Given the description of an element on the screen output the (x, y) to click on. 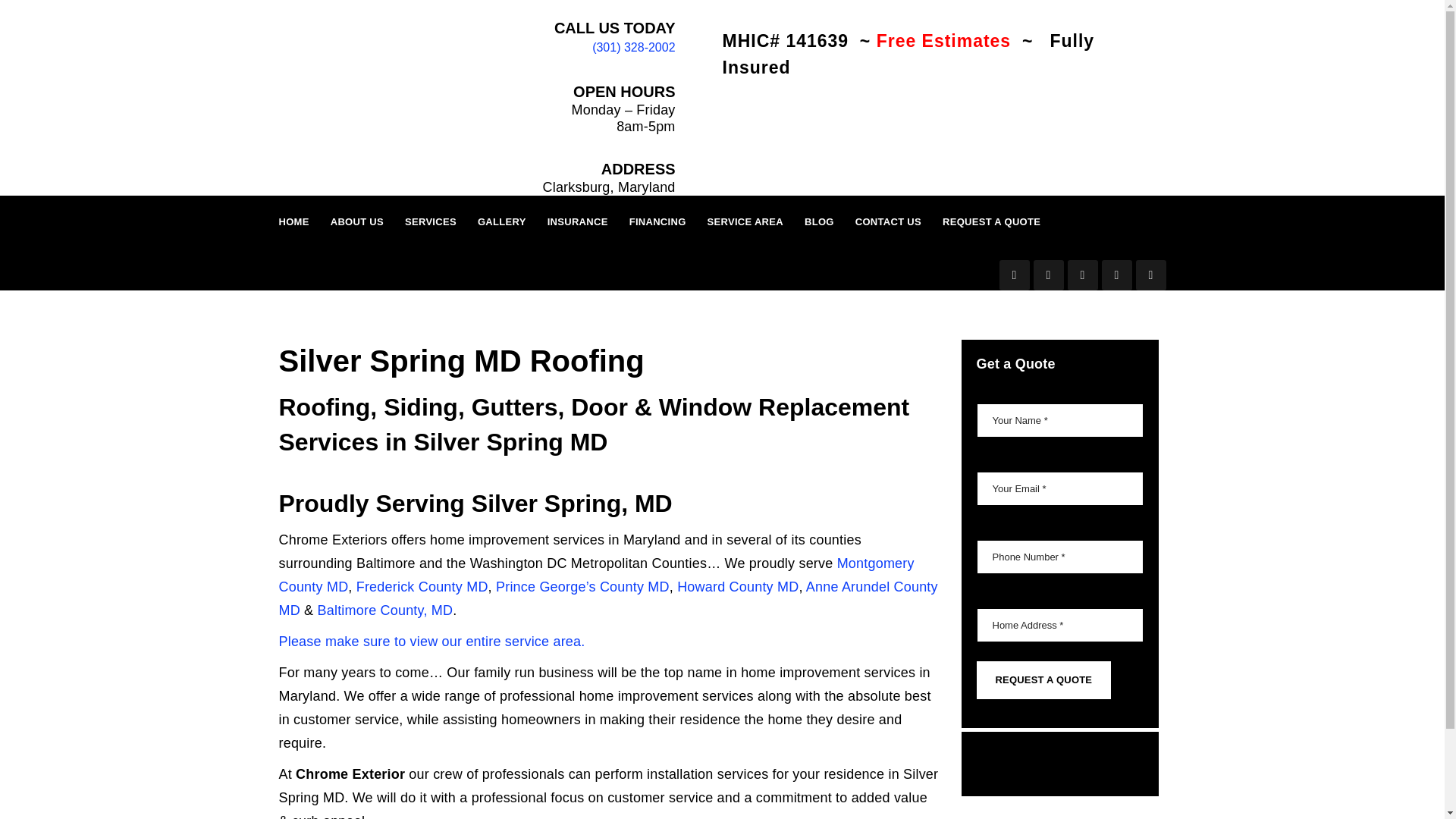
SERVICES (430, 221)
ABOUT US (357, 221)
Request a Quote (1044, 680)
HOME (293, 221)
